Given the description of an element on the screen output the (x, y) to click on. 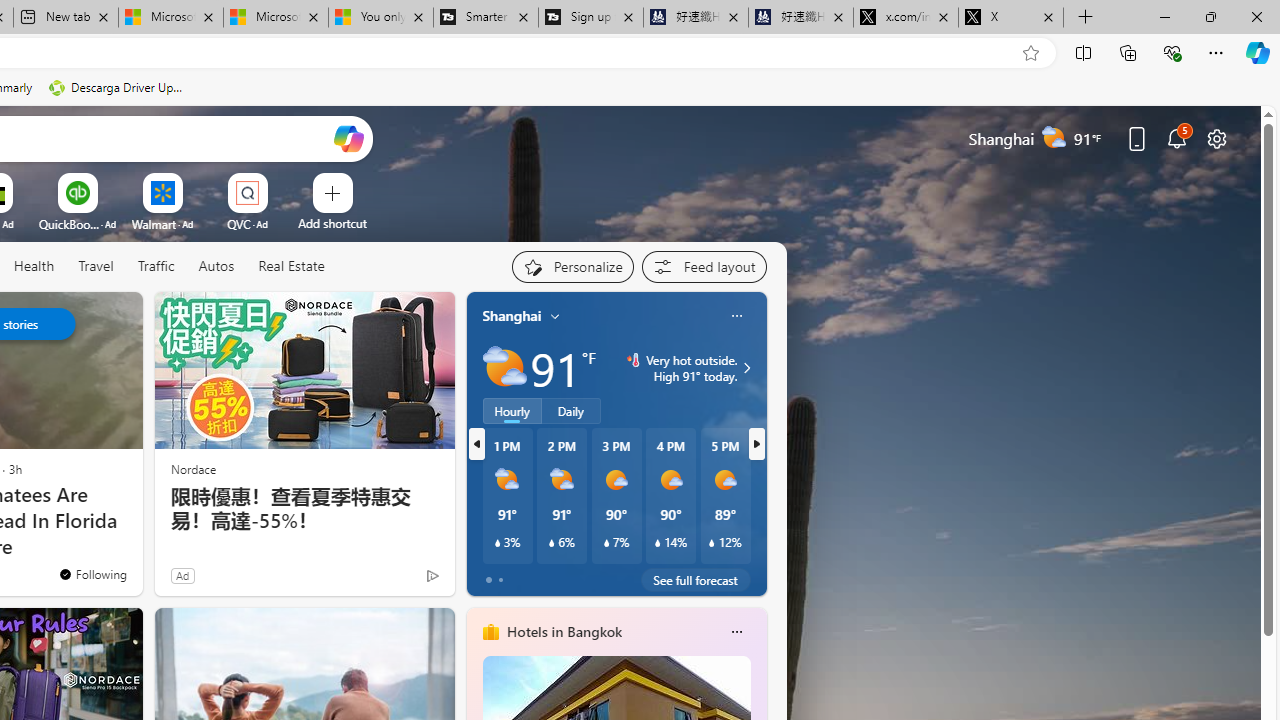
Personalize your feed" (571, 266)
Autos (215, 265)
Traffic (155, 265)
Partly sunny (504, 368)
Travel (95, 267)
